Given the description of an element on the screen output the (x, y) to click on. 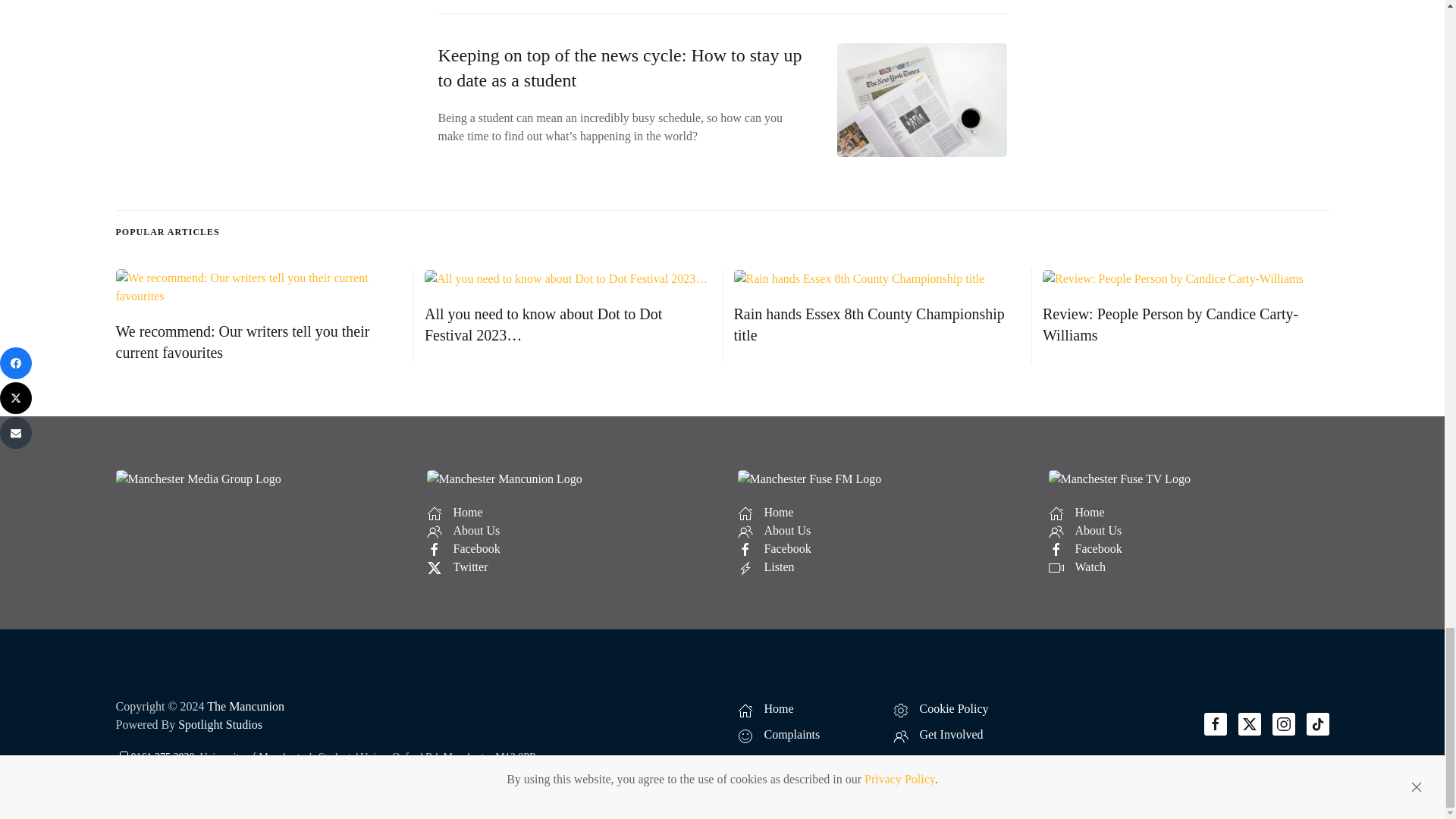
The Mancunion (244, 706)
Web Design by Spotlight Studios (219, 724)
